Given the description of an element on the screen output the (x, y) to click on. 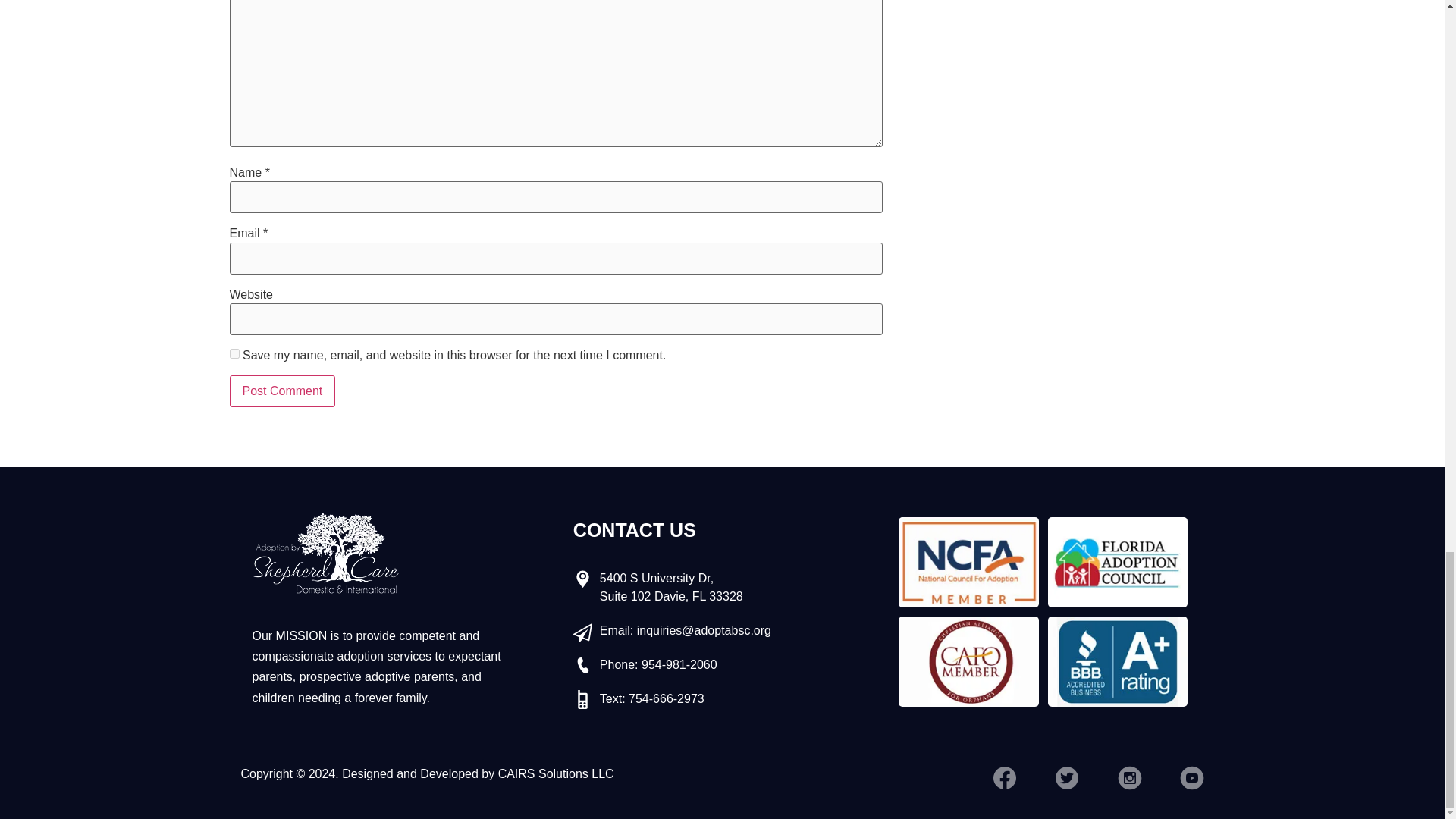
Post Comment (281, 391)
yes (233, 353)
Post Comment (281, 391)
